Given the description of an element on the screen output the (x, y) to click on. 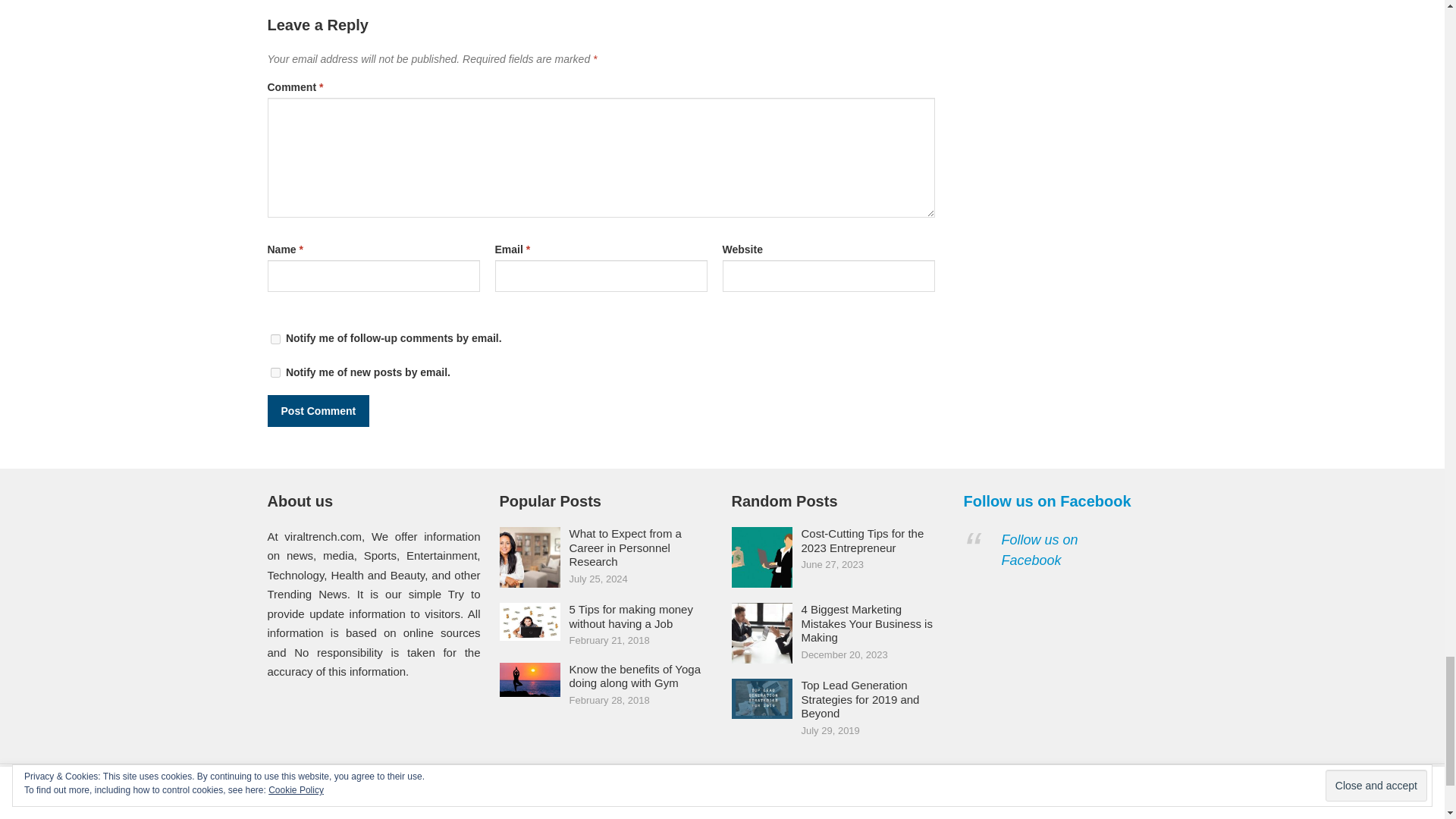
subscribe (274, 372)
subscribe (274, 338)
Post Comment (317, 410)
